Given the description of an element on the screen output the (x, y) to click on. 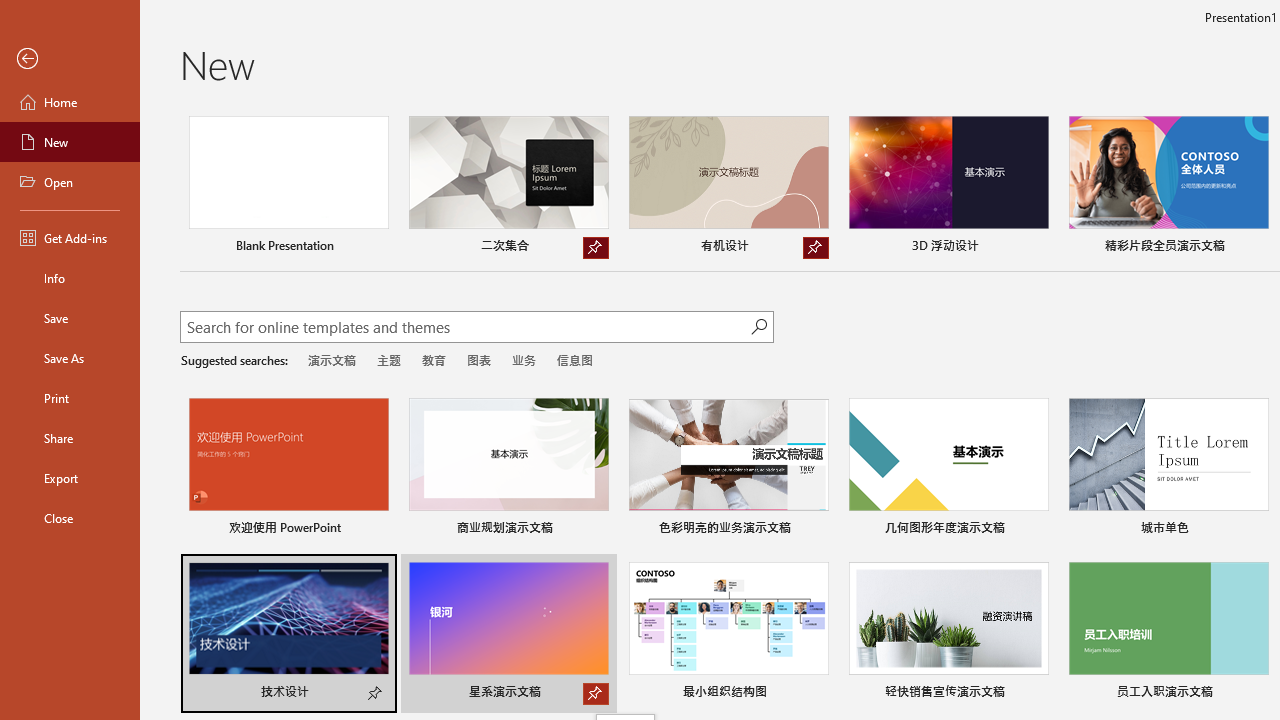
Get Add-ins (69, 237)
Back (69, 59)
Pin to list (1255, 693)
Export (69, 477)
Blank Presentation (288, 187)
